Given the description of an element on the screen output the (x, y) to click on. 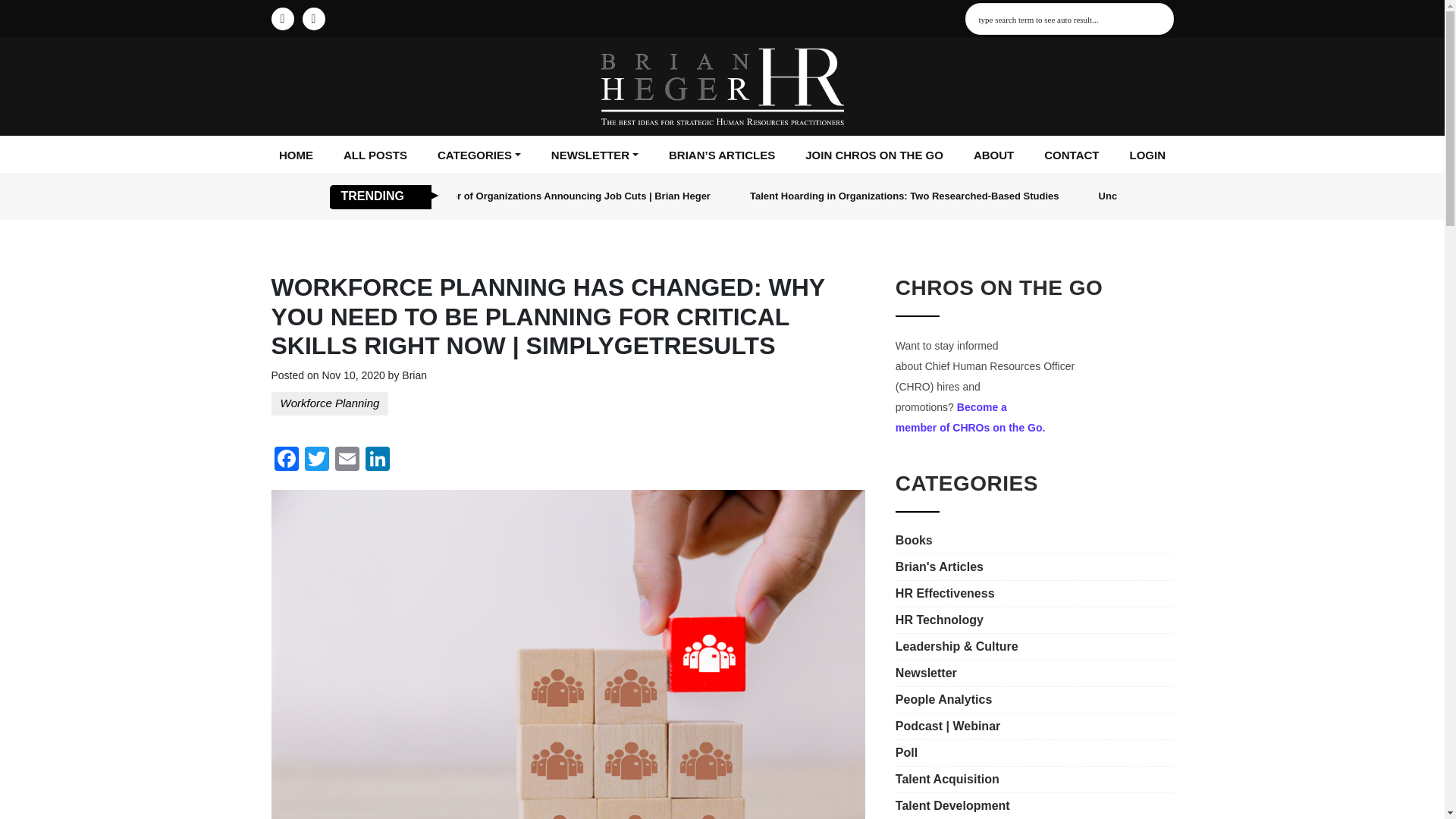
HOME (296, 156)
CONTACT (1071, 156)
NEWSLETTER (595, 156)
BrianHeger.com (721, 86)
ABOUT (993, 156)
Home (296, 156)
LOGIN (1147, 156)
JOIN CHROS ON THE GO (874, 156)
CATEGORIES (479, 156)
